Given the description of an element on the screen output the (x, y) to click on. 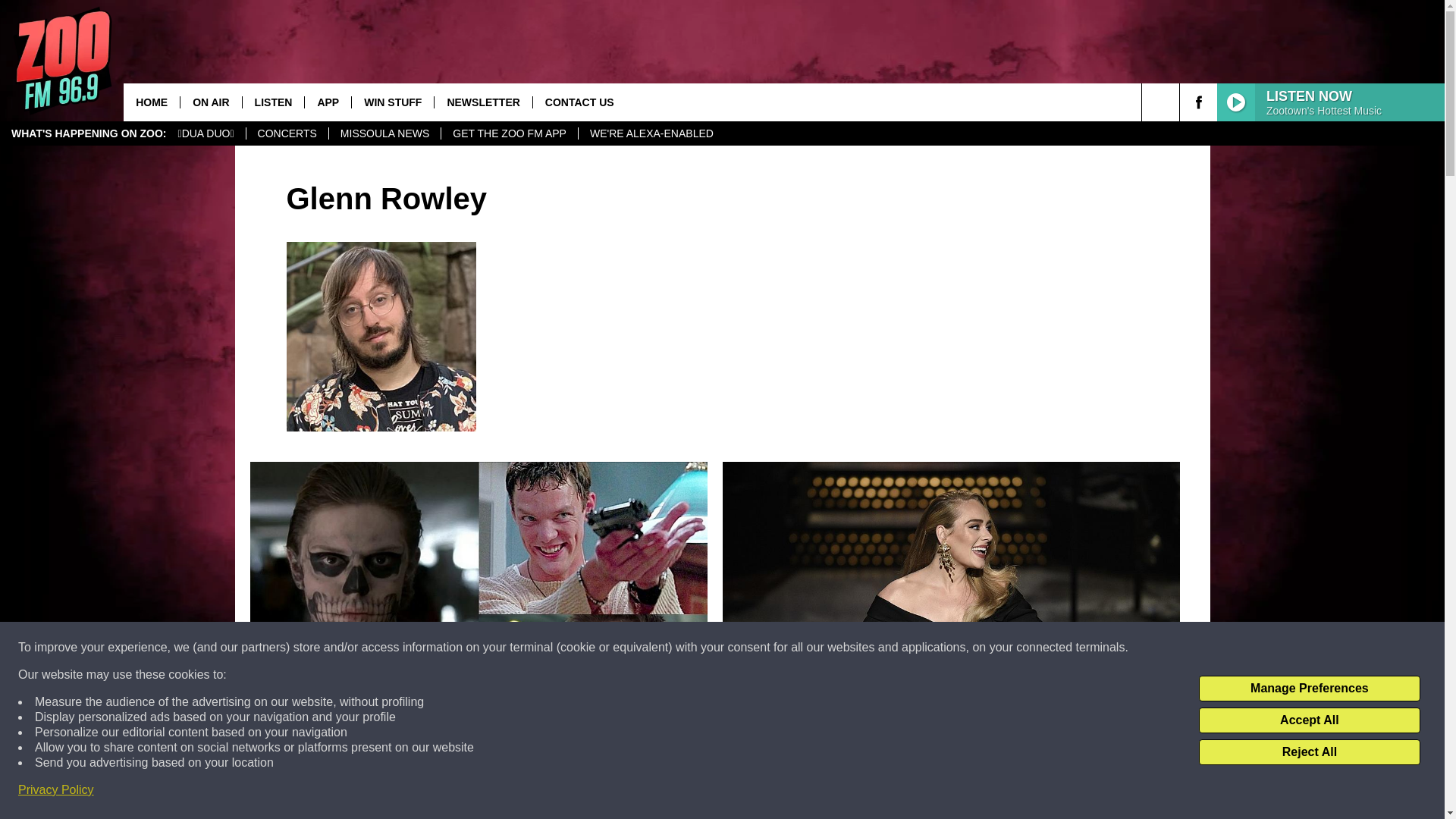
NEWSLETTER (482, 102)
HOME (151, 102)
CONTACT US (579, 102)
APP (327, 102)
SEARCH (1182, 102)
Accept All (1309, 720)
MISSOULA NEWS (385, 133)
CONCERTS (287, 133)
LISTEN (272, 102)
WIN STUFF (391, 102)
Manage Preferences (1309, 688)
Privacy Policy (55, 789)
GET THE ZOO FM APP (509, 133)
WE'RE ALEXA-ENABLED (651, 133)
ON AIR (210, 102)
